Given the description of an element on the screen output the (x, y) to click on. 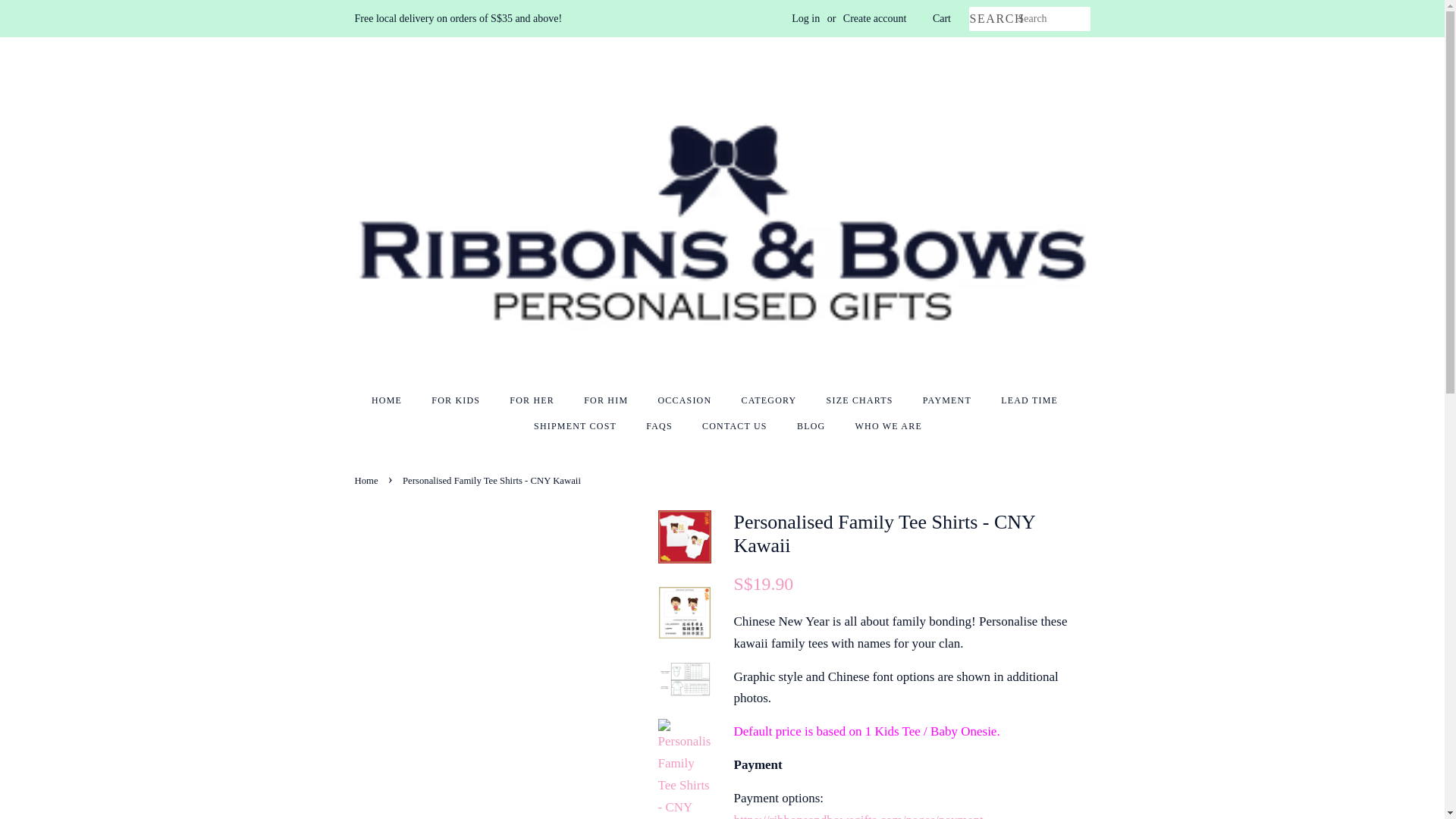
Back to the frontpage (368, 480)
Cart (941, 18)
Log in (805, 18)
Create account (875, 18)
SEARCH (993, 18)
